Given the description of an element on the screen output the (x, y) to click on. 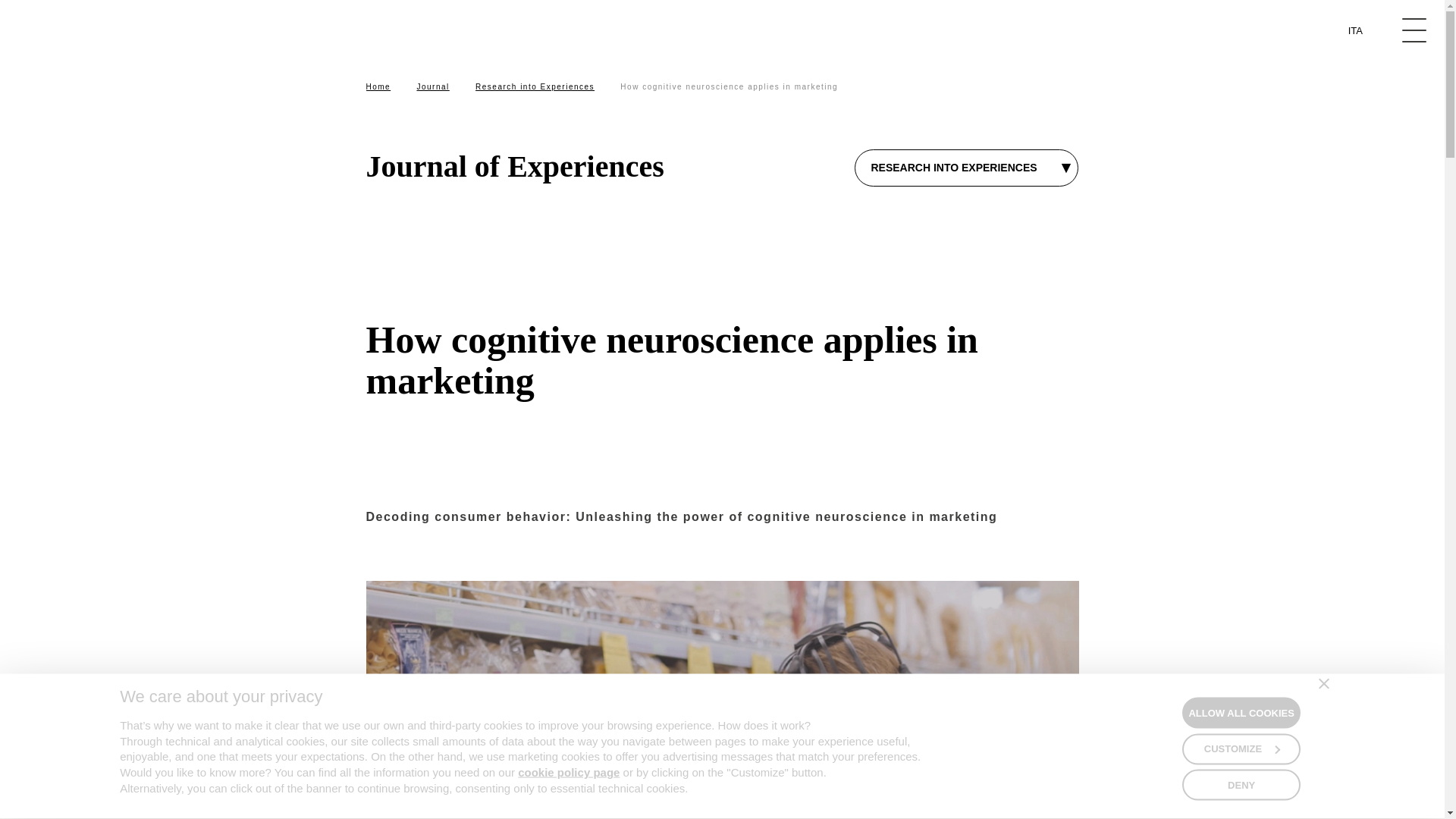
cookie policy page (569, 771)
